Given the description of an element on the screen output the (x, y) to click on. 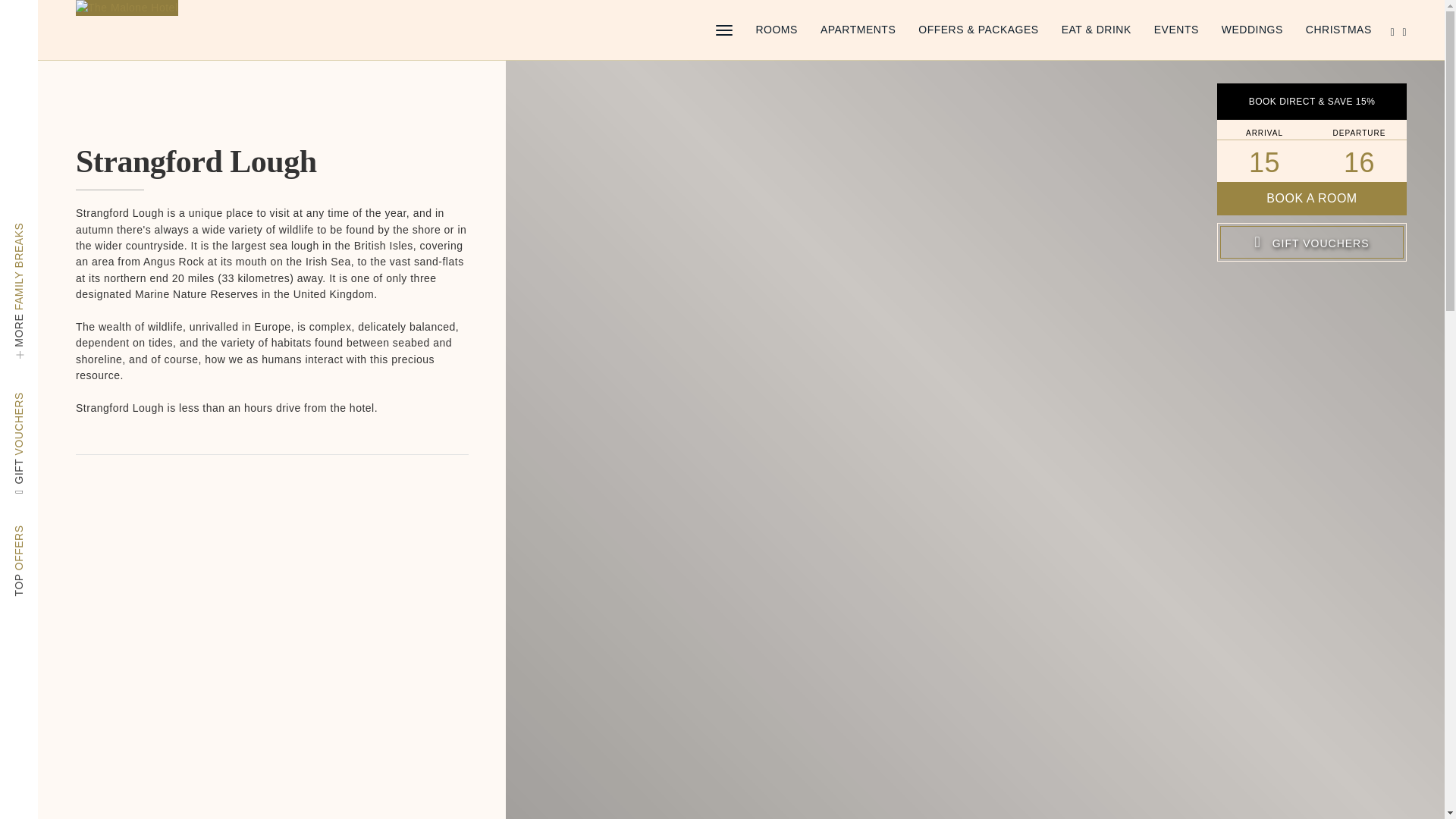
EVENTS (1175, 29)
Hotel (126, 7)
CHRISTMAS (1338, 29)
ROOMS (776, 29)
WEDDINGS (1251, 29)
APARTMENTS (858, 29)
